Given the description of an element on the screen output the (x, y) to click on. 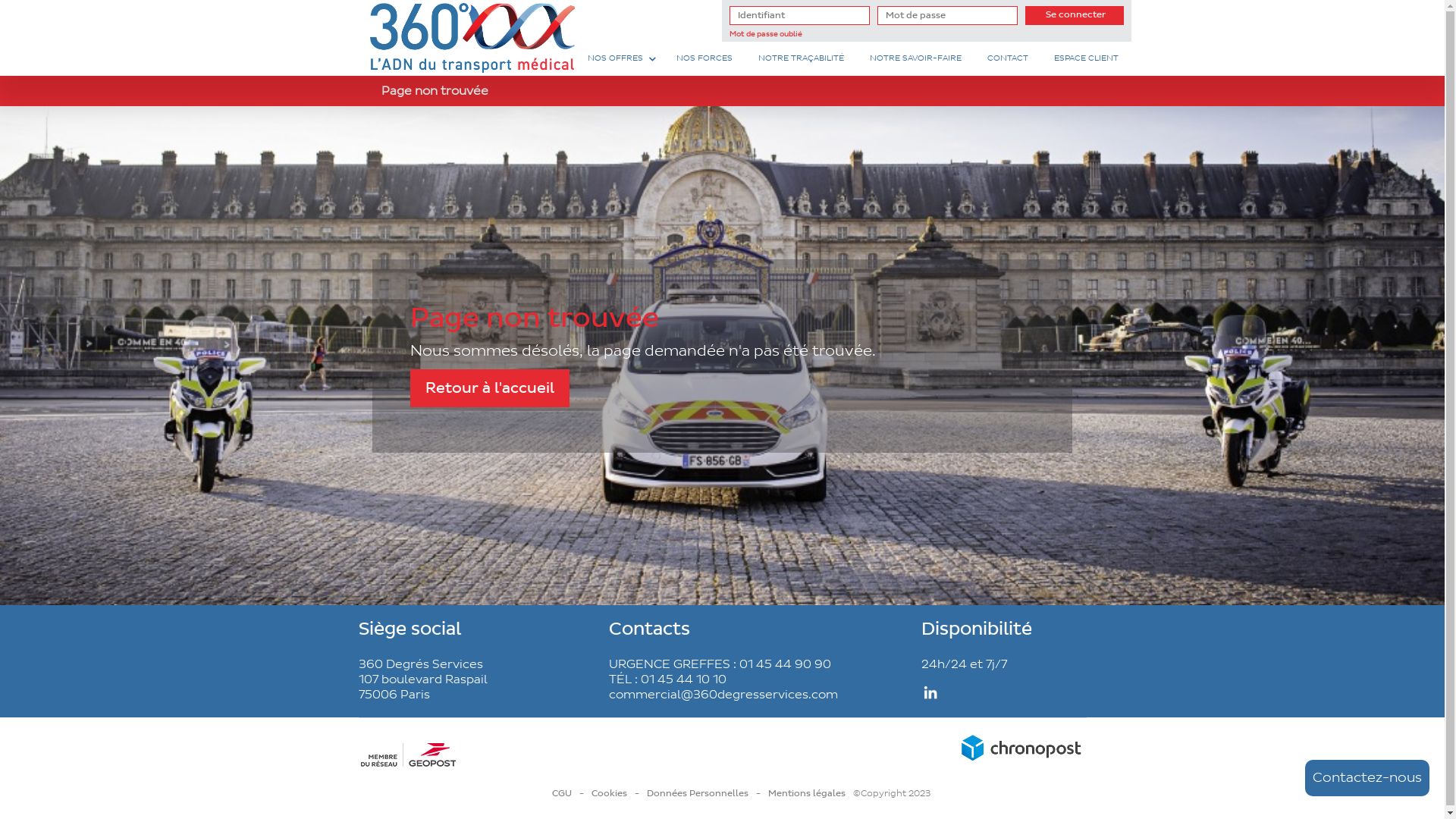
Cookies Element type: text (608, 793)
CGU Element type: text (561, 793)
NOS OFFRES Element type: text (614, 58)
ESPACE CLIENT Element type: text (1085, 58)
Se connecter Element type: text (1074, 15)
Contactez-nous Element type: text (1367, 777)
commercial@360degresservices.com Element type: text (722, 694)
CONTACT Element type: text (1006, 58)
NOS FORCES Element type: text (703, 58)
NOTRE SAVOIR-FAIRE Element type: text (915, 58)
